Given the description of an element on the screen output the (x, y) to click on. 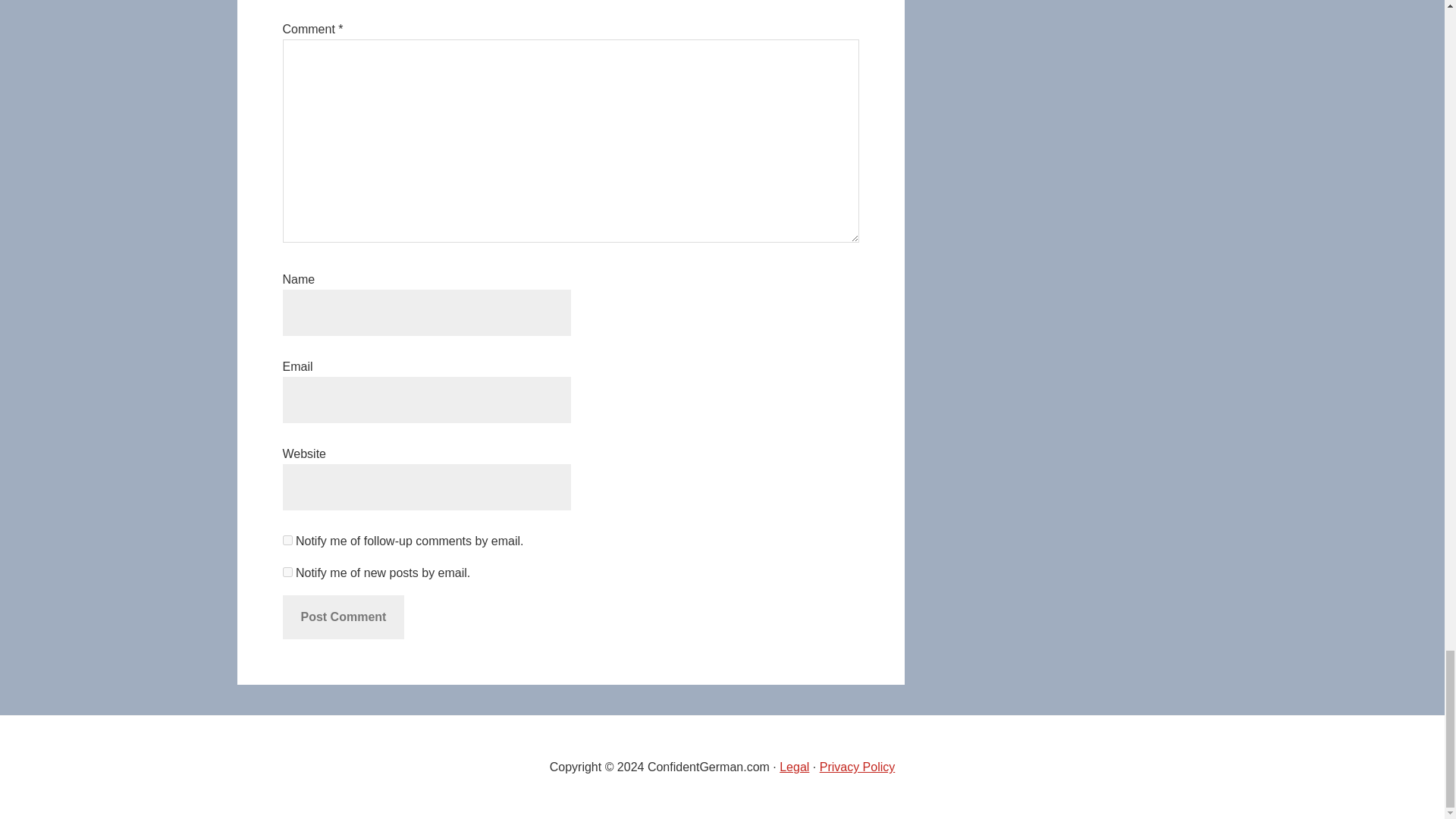
subscribe (287, 572)
Legal (793, 766)
Post Comment (343, 617)
Privacy Policy (857, 766)
subscribe (287, 540)
Post Comment (343, 617)
